Given the description of an element on the screen output the (x, y) to click on. 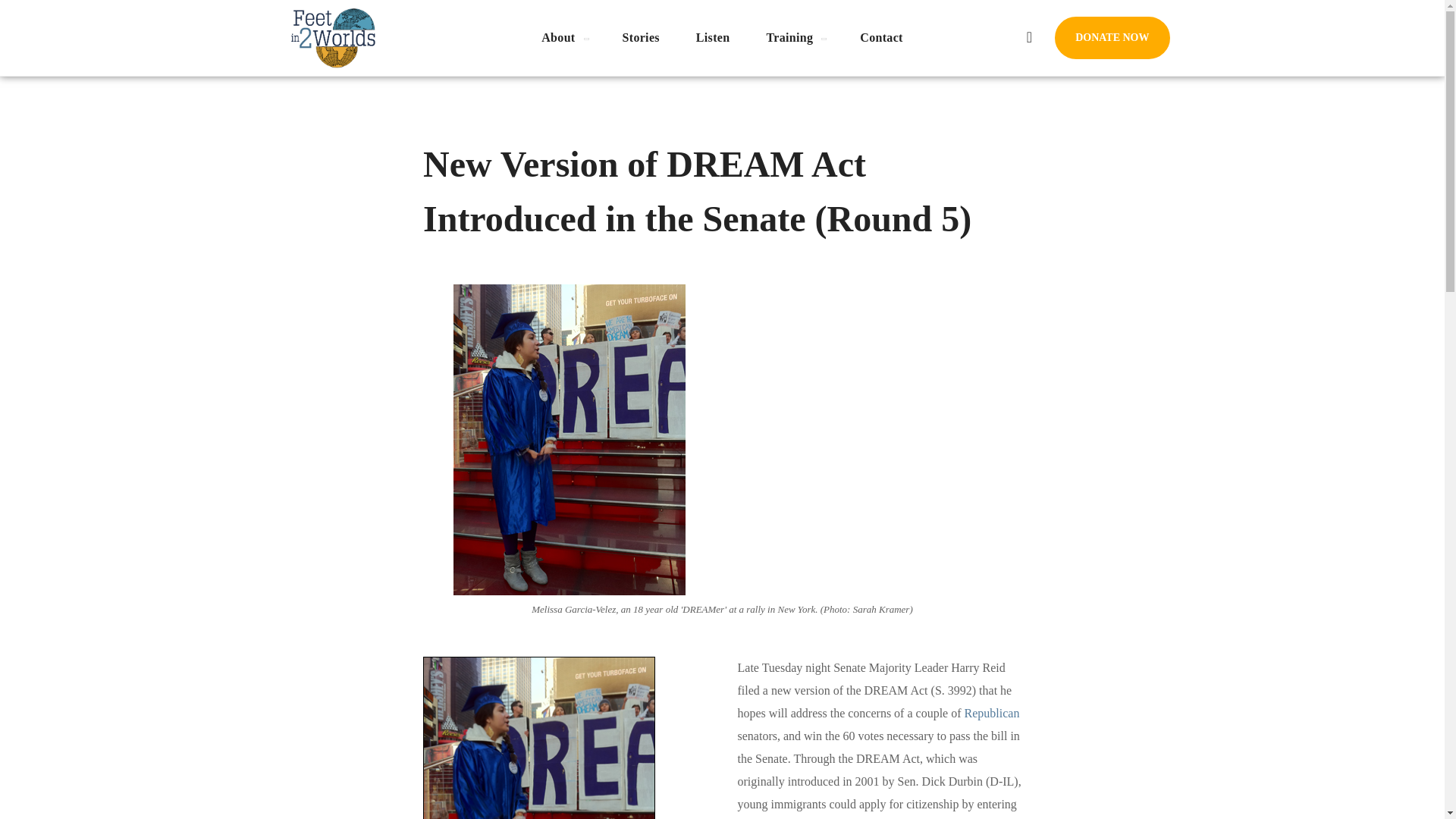
About (563, 37)
Search (976, 120)
DONATE NOW (1111, 37)
Training (794, 37)
Search (976, 43)
Stories (641, 37)
Contact (880, 37)
Listen (713, 37)
